Given the description of an element on the screen output the (x, y) to click on. 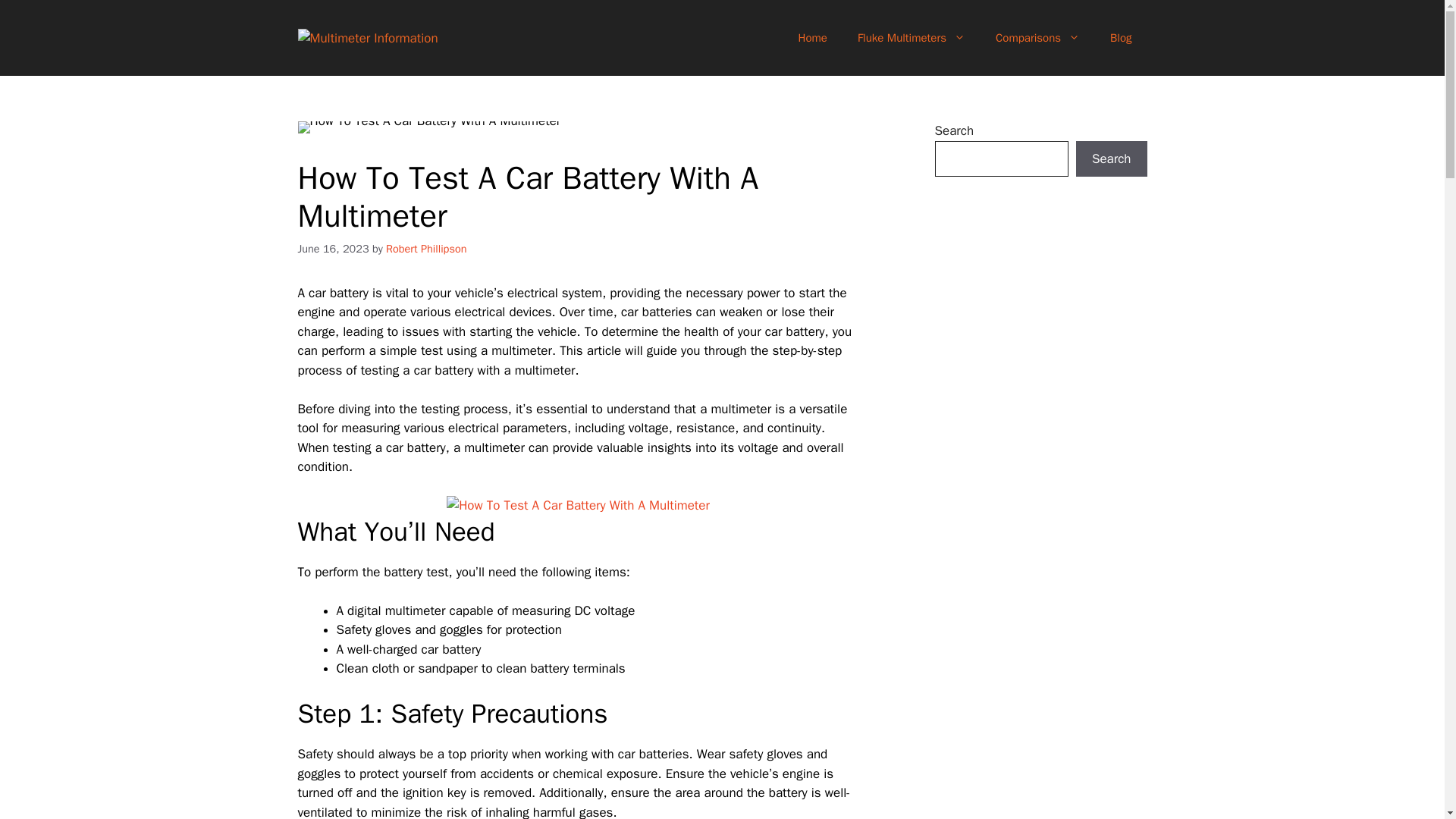
Blog (1120, 37)
Comparisons (1036, 37)
Robert Phillipson (425, 248)
Fluke Multimeters (911, 37)
Home (813, 37)
View all posts by Robert Phillipson (425, 248)
